Given the description of an element on the screen output the (x, y) to click on. 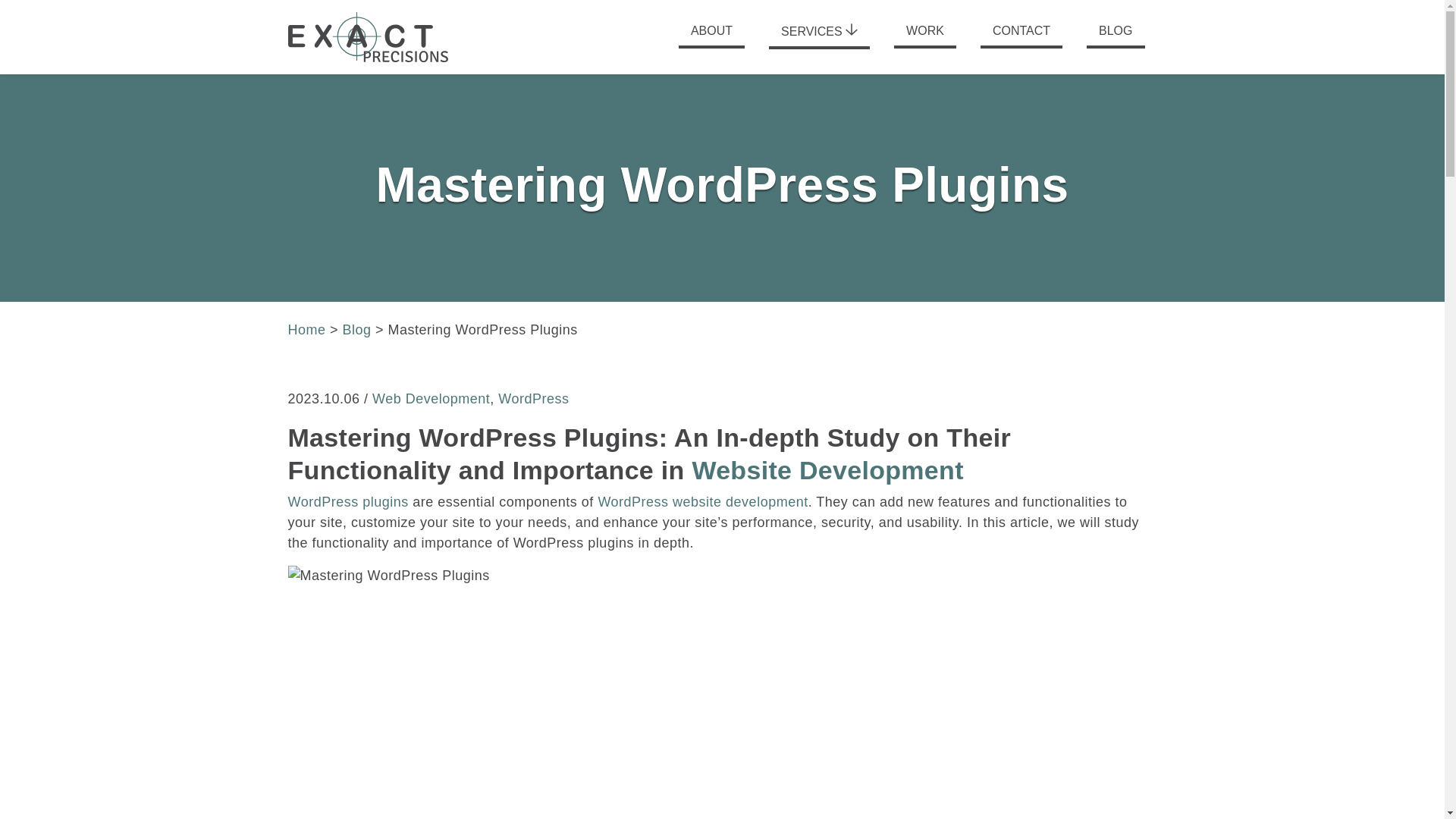
CONTACT (1020, 35)
Home (307, 329)
Website Development (826, 469)
Web Development (430, 398)
SERVICES (818, 36)
WORK (924, 35)
ABOUT (711, 35)
WordPress website development (702, 501)
Blog (356, 329)
BLOG (1115, 35)
WordPress (533, 398)
WordPress plugins (348, 501)
